Given the description of an element on the screen output the (x, y) to click on. 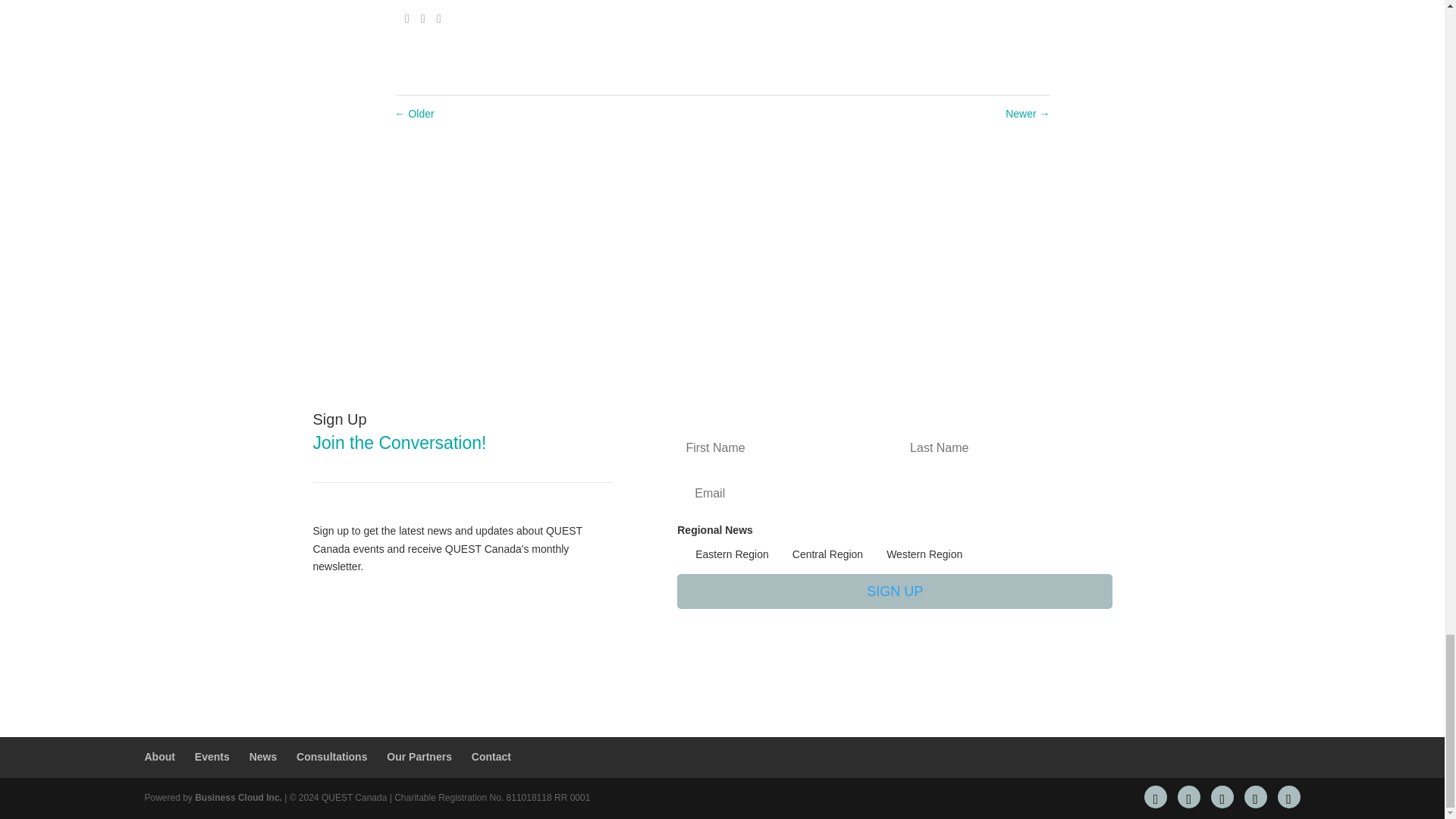
SIGN UP (894, 591)
About (159, 756)
